Given the description of an element on the screen output the (x, y) to click on. 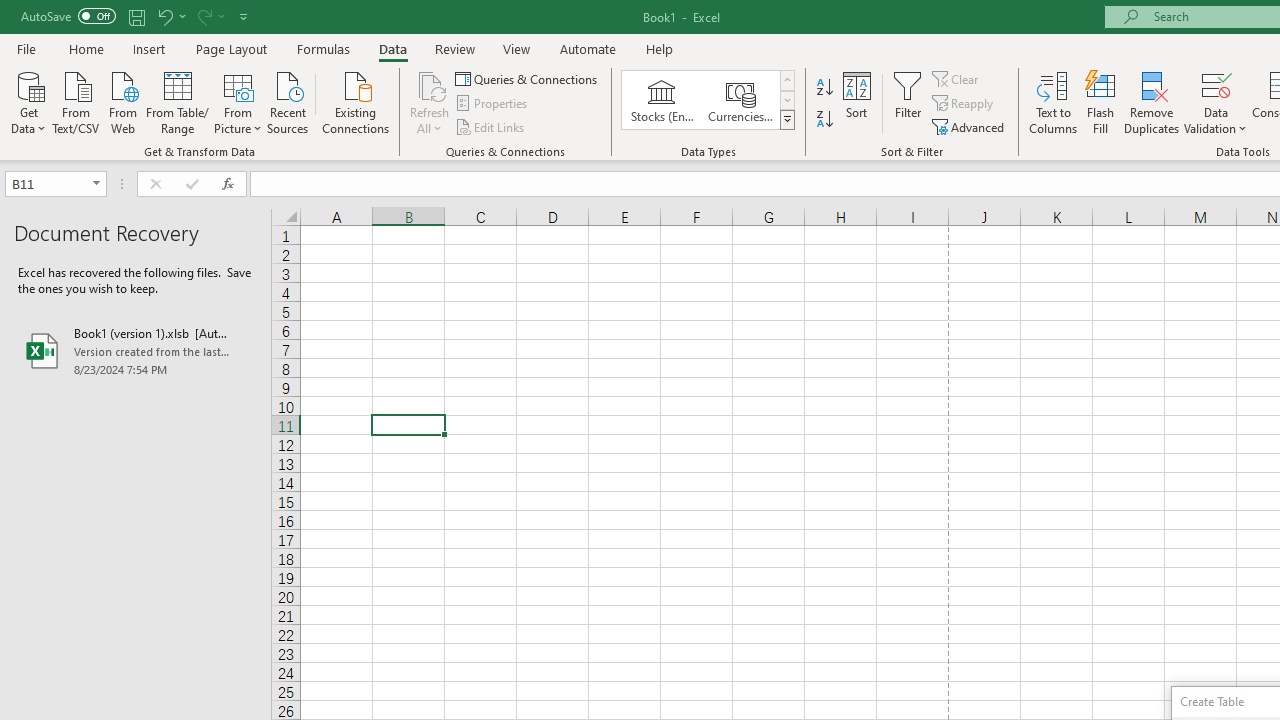
AutomationID: ConvertToLinkedEntity (708, 99)
Existing Connections (355, 101)
Flash Fill (1101, 102)
Currencies (English) (740, 100)
